Given the description of an element on the screen output the (x, y) to click on. 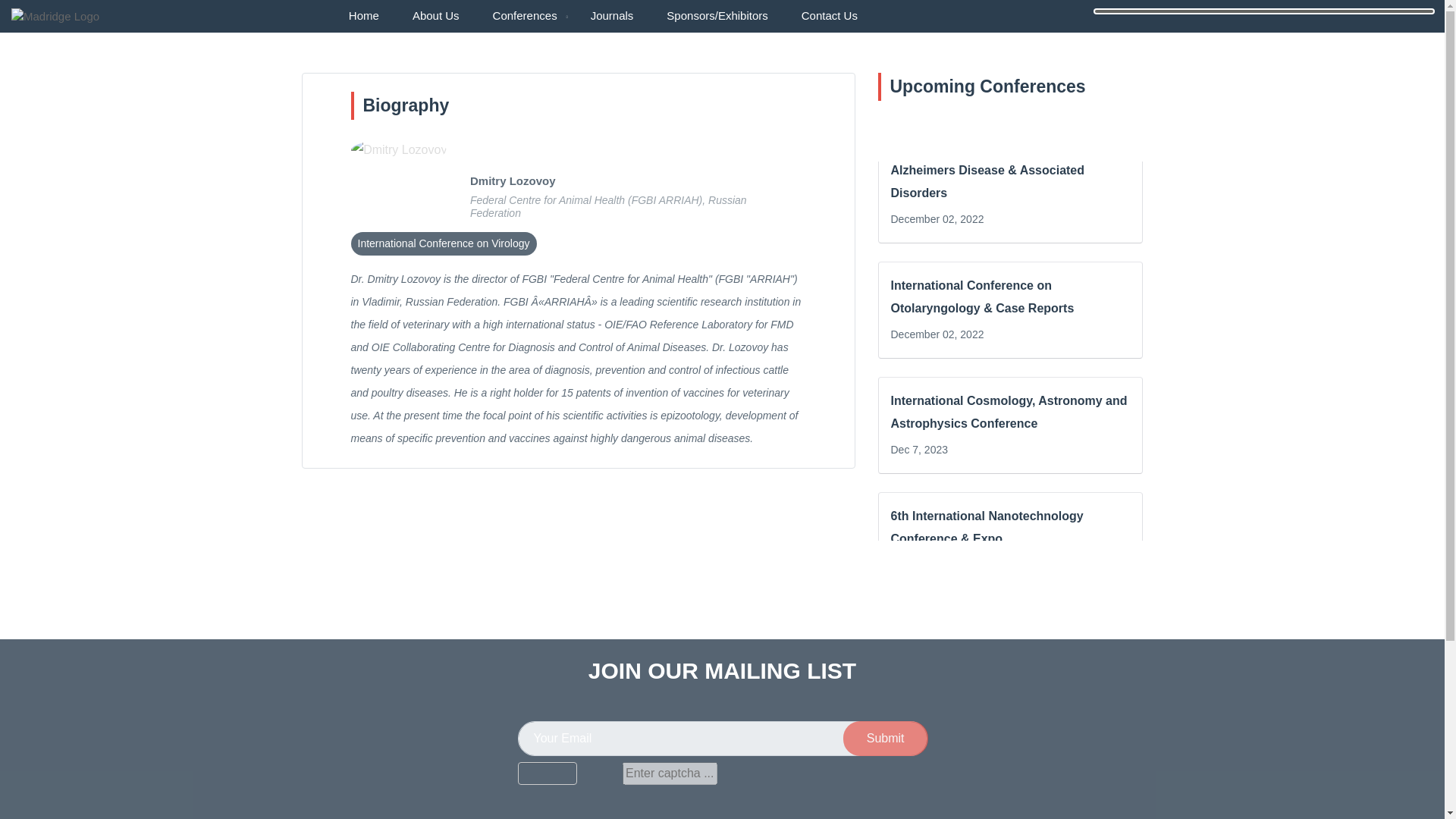
Submit (885, 738)
Journals (611, 16)
Conferences (524, 16)
Contact Us (829, 16)
Home (363, 16)
International Conference on Virology (442, 243)
About Us (435, 16)
